Given the description of an element on the screen output the (x, y) to click on. 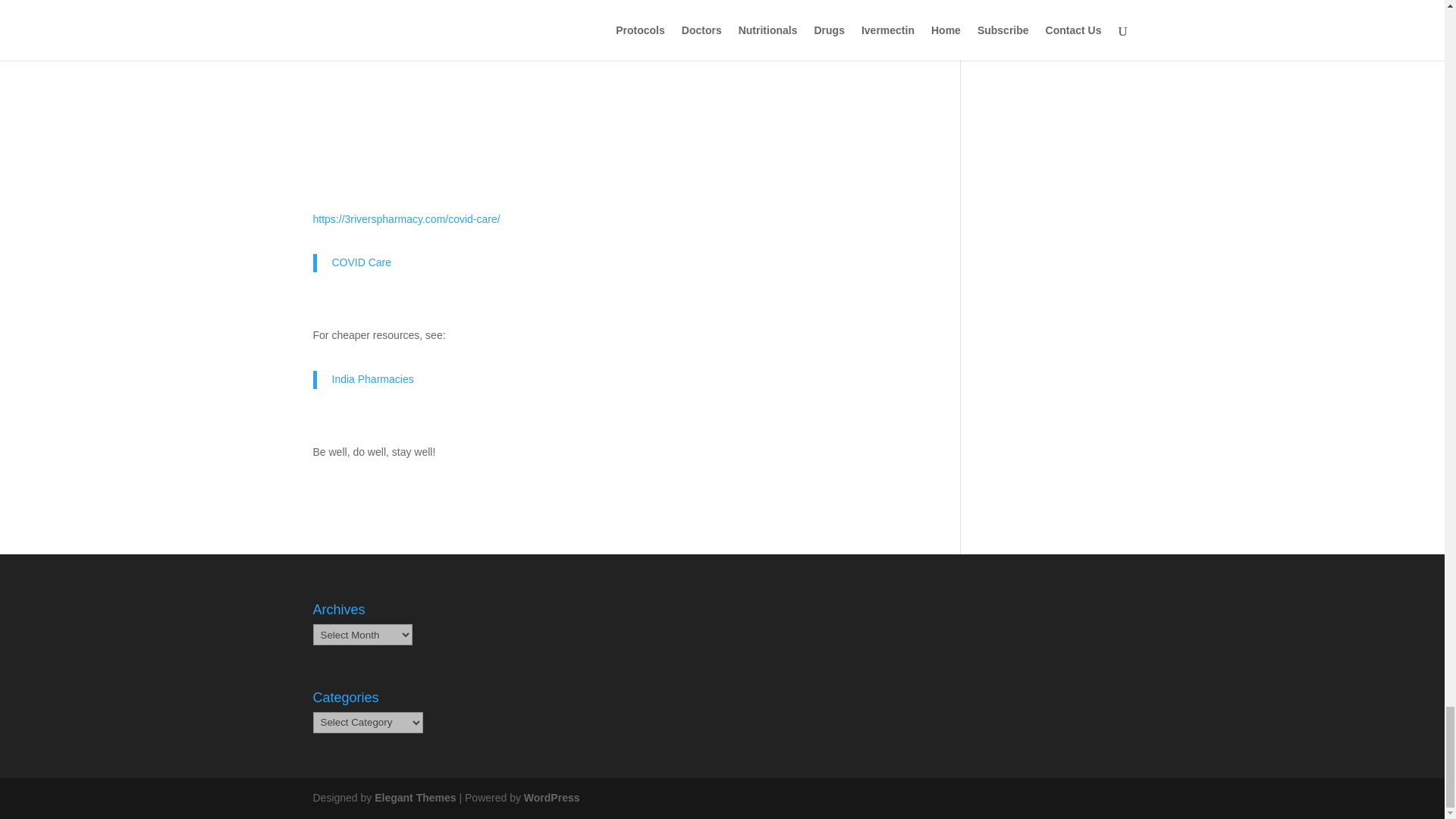
Premium WordPress Themes (414, 797)
